Given the description of an element on the screen output the (x, y) to click on. 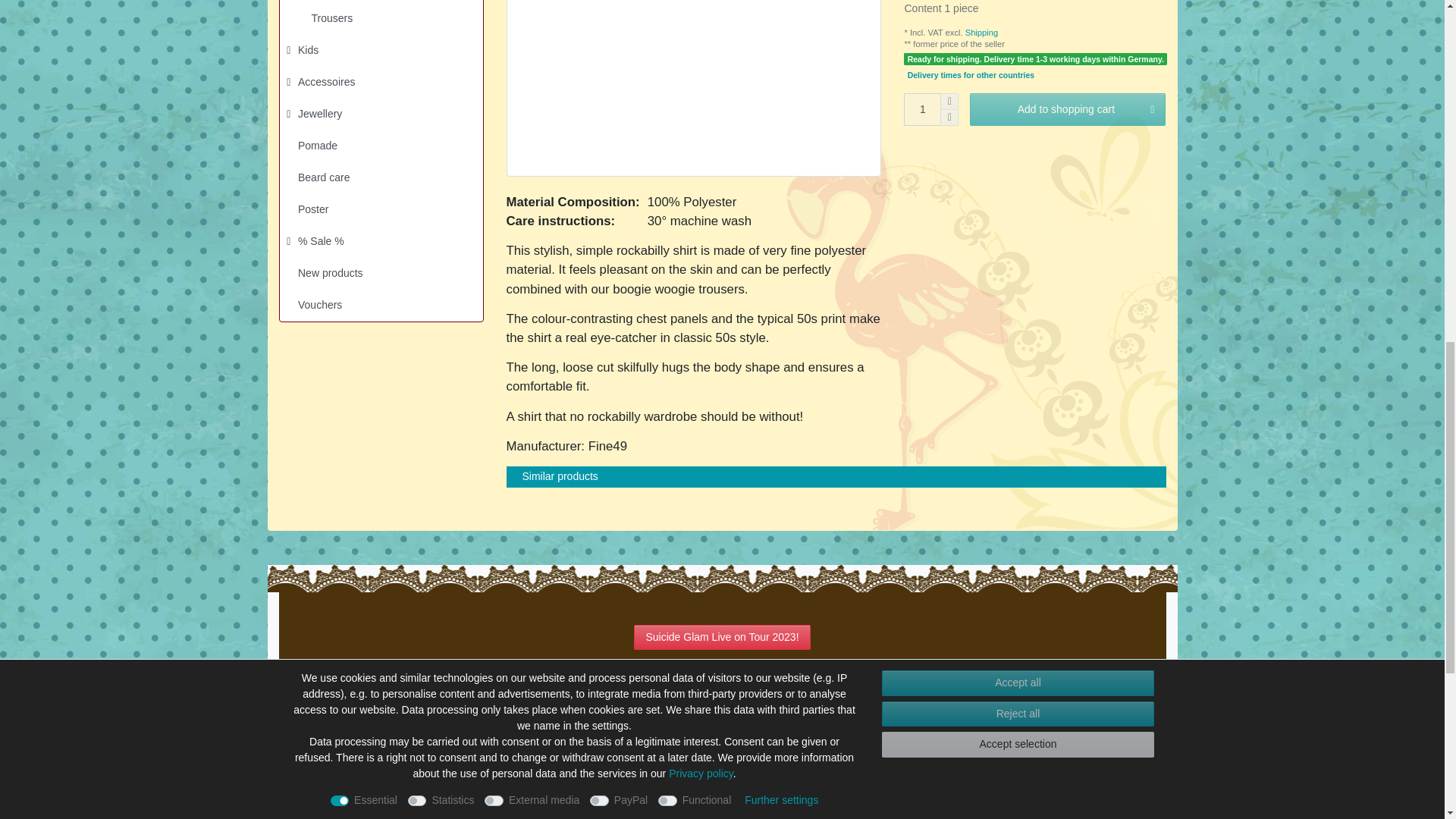
1 (922, 109)
Delivery times for other countries (970, 74)
Shipping (980, 31)
